Given the description of an element on the screen output the (x, y) to click on. 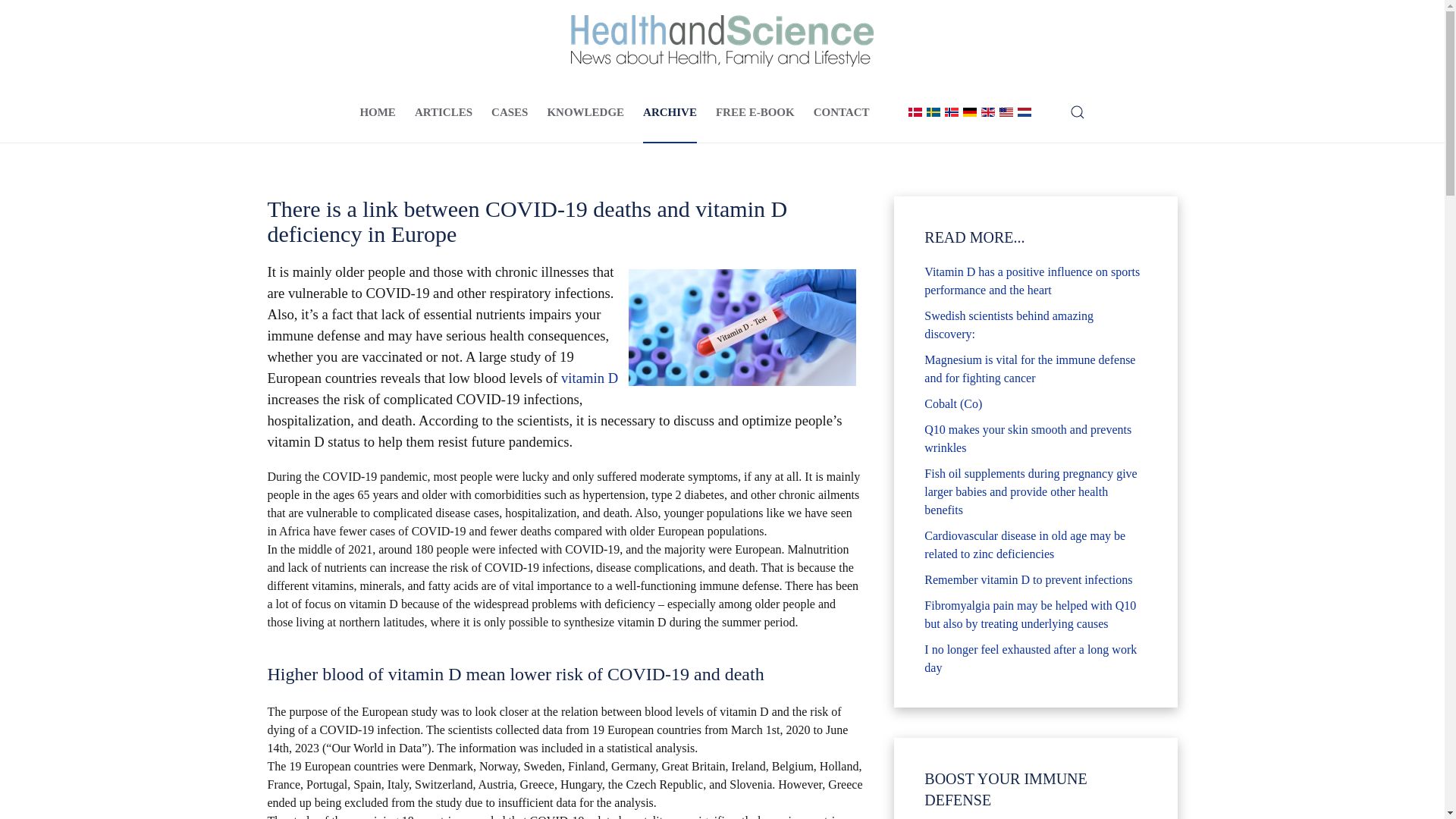
German (969, 112)
FREE E-BOOK (755, 111)
Dansk (914, 112)
CONTACT (841, 111)
KNOWLEDGE (585, 111)
ARTICLES (442, 111)
Dutch (1023, 112)
